Given the description of an element on the screen output the (x, y) to click on. 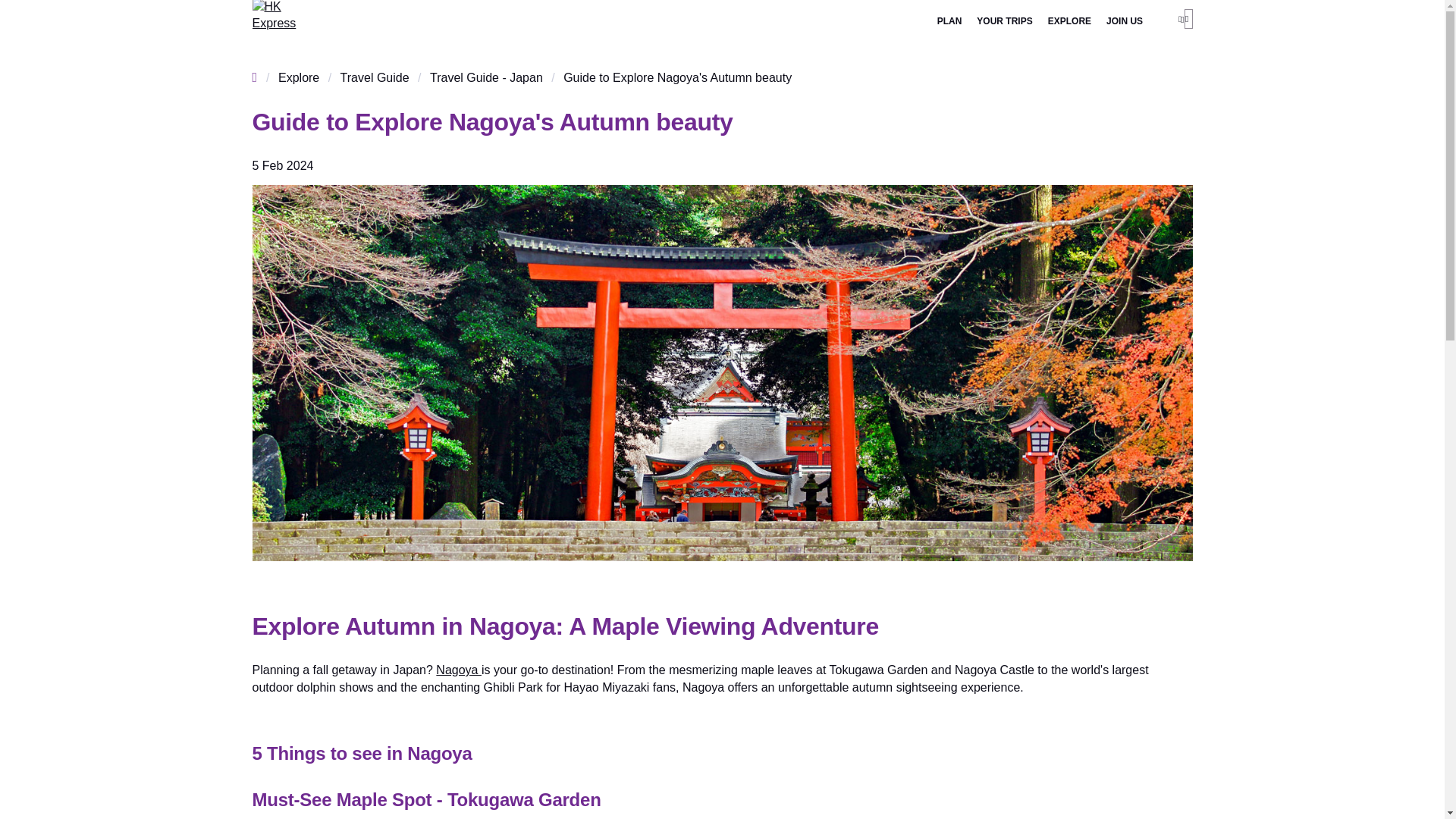
PLAN (949, 21)
